Given the description of an element on the screen output the (x, y) to click on. 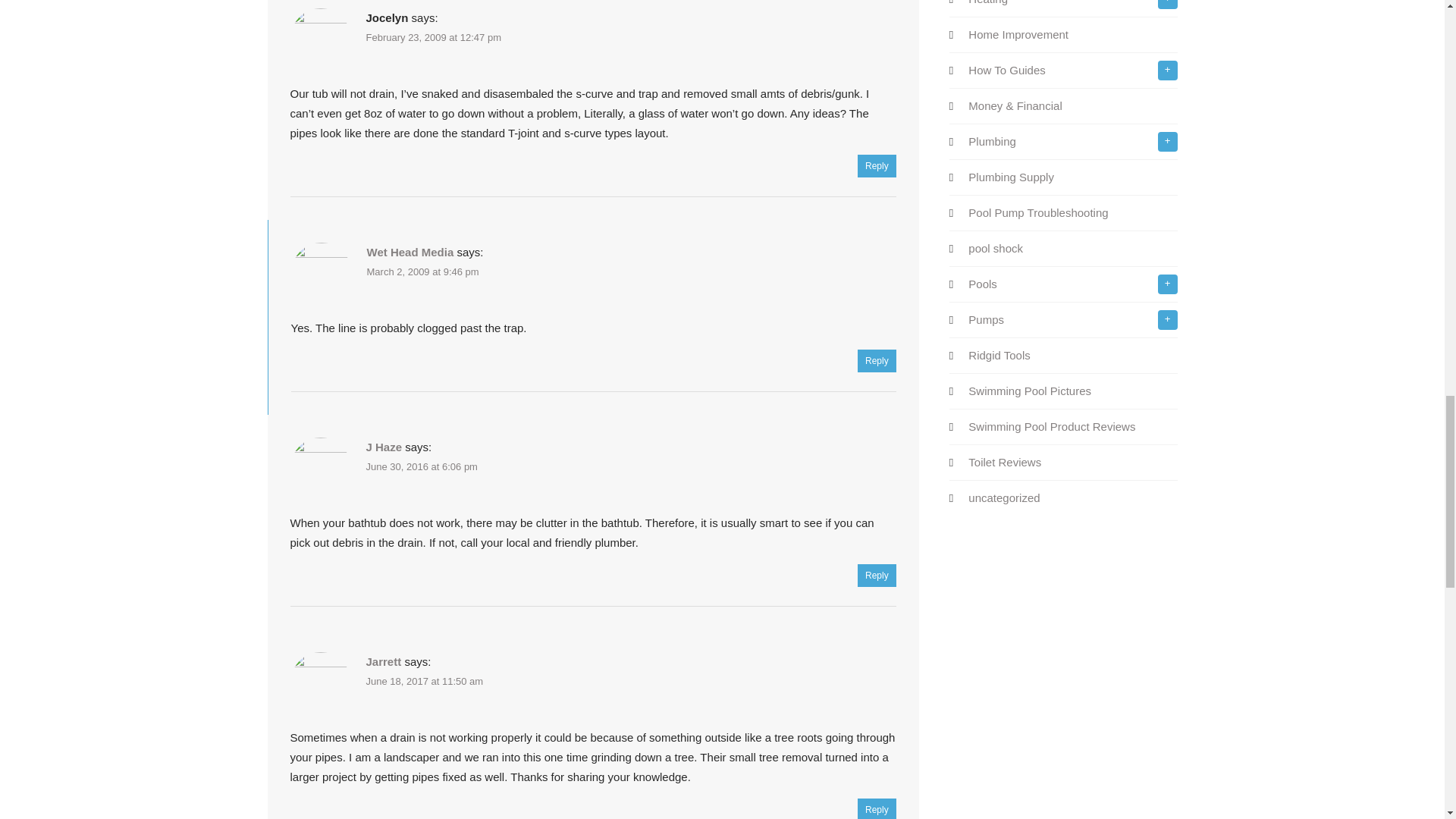
March 2, 2009 at 9:46 pm (422, 271)
Reply (876, 360)
Reply (876, 165)
February 23, 2009 at 12:47 pm (432, 37)
Wet Head Media (410, 251)
